Given the description of an element on the screen output the (x, y) to click on. 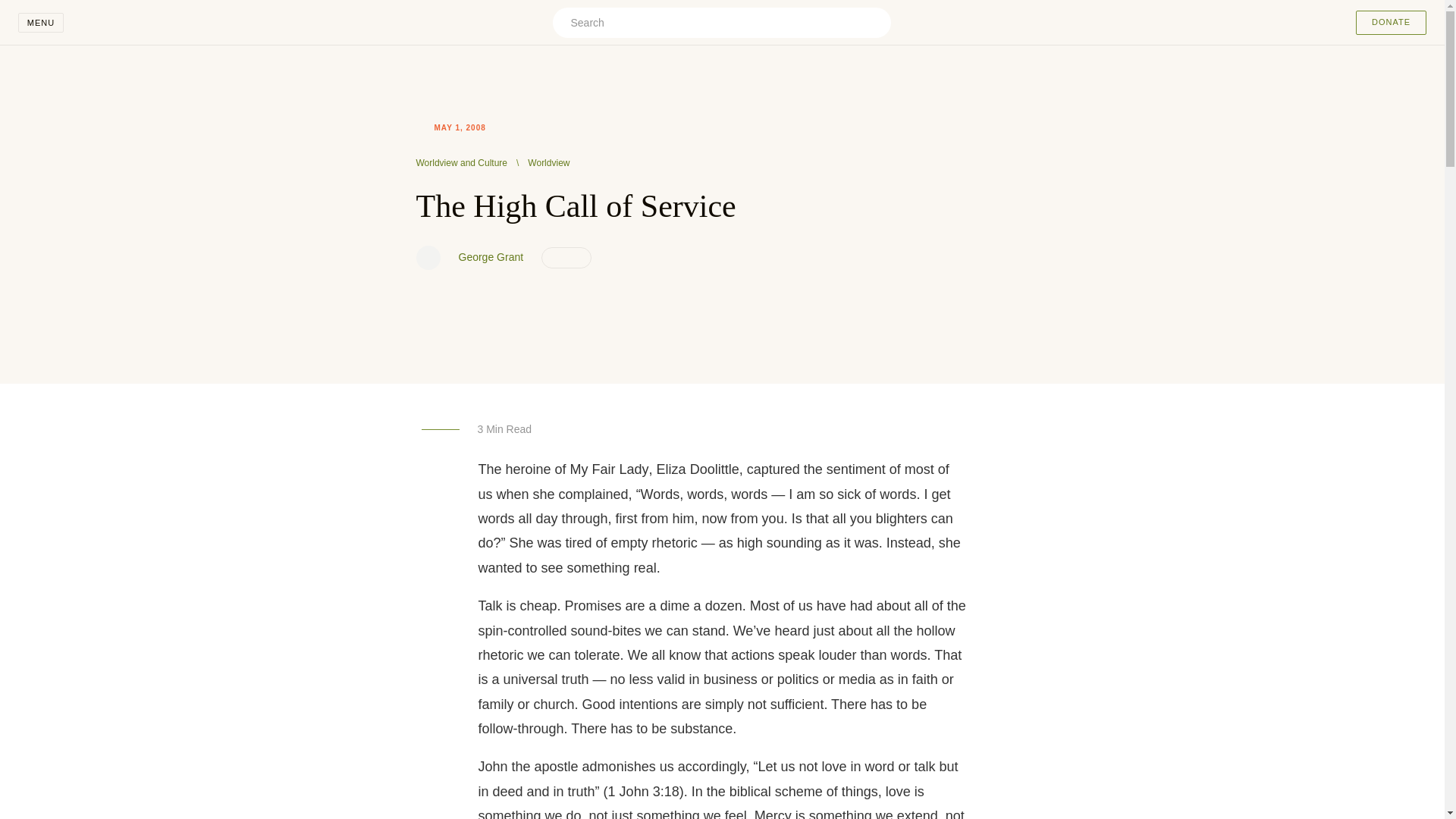
MENU (40, 22)
DONATE (1390, 22)
